Given the description of an element on the screen output the (x, y) to click on. 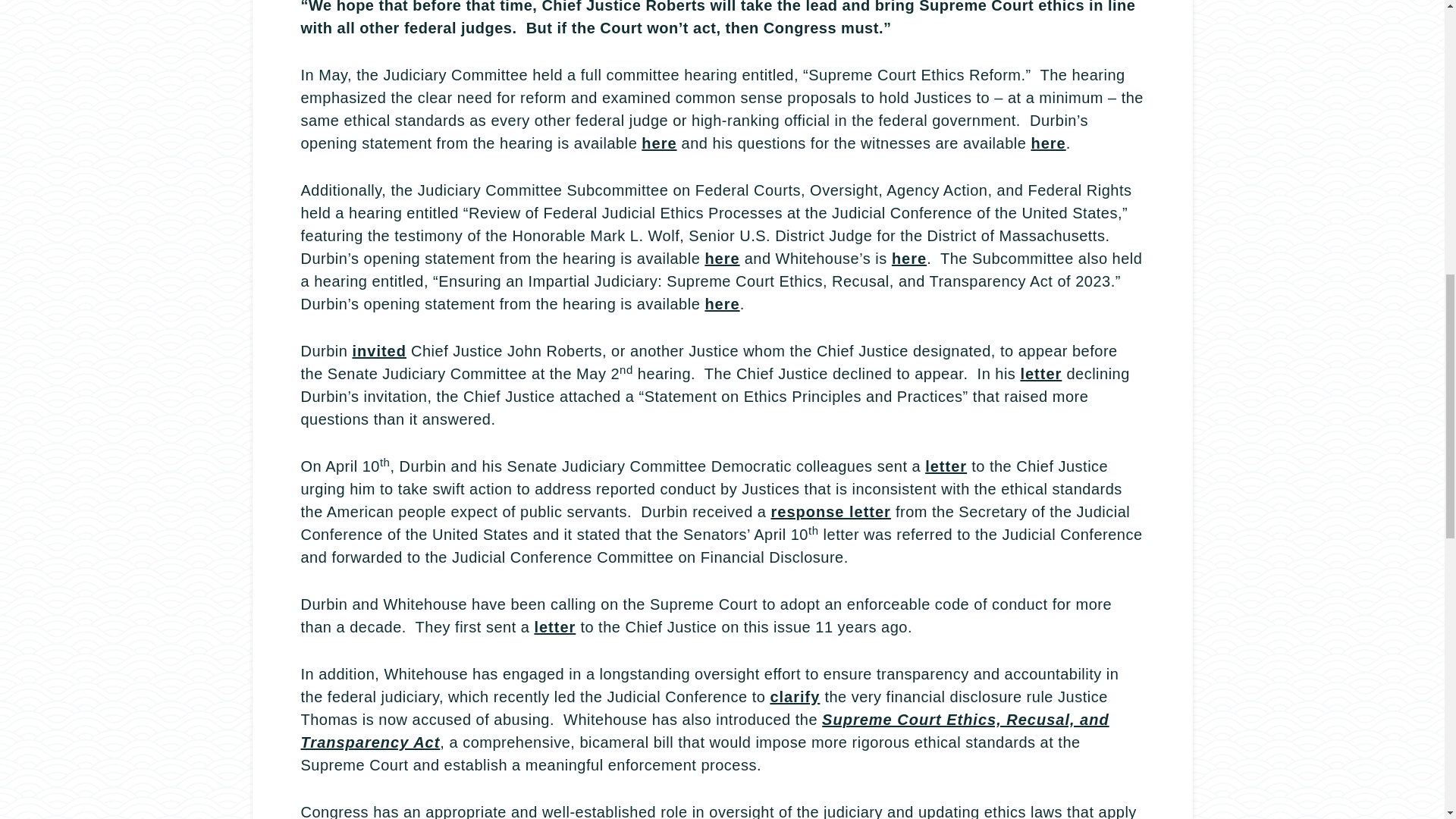
here (659, 143)
invited (379, 351)
here (721, 303)
here (908, 258)
here (721, 258)
here (1047, 143)
